Given the description of an element on the screen output the (x, y) to click on. 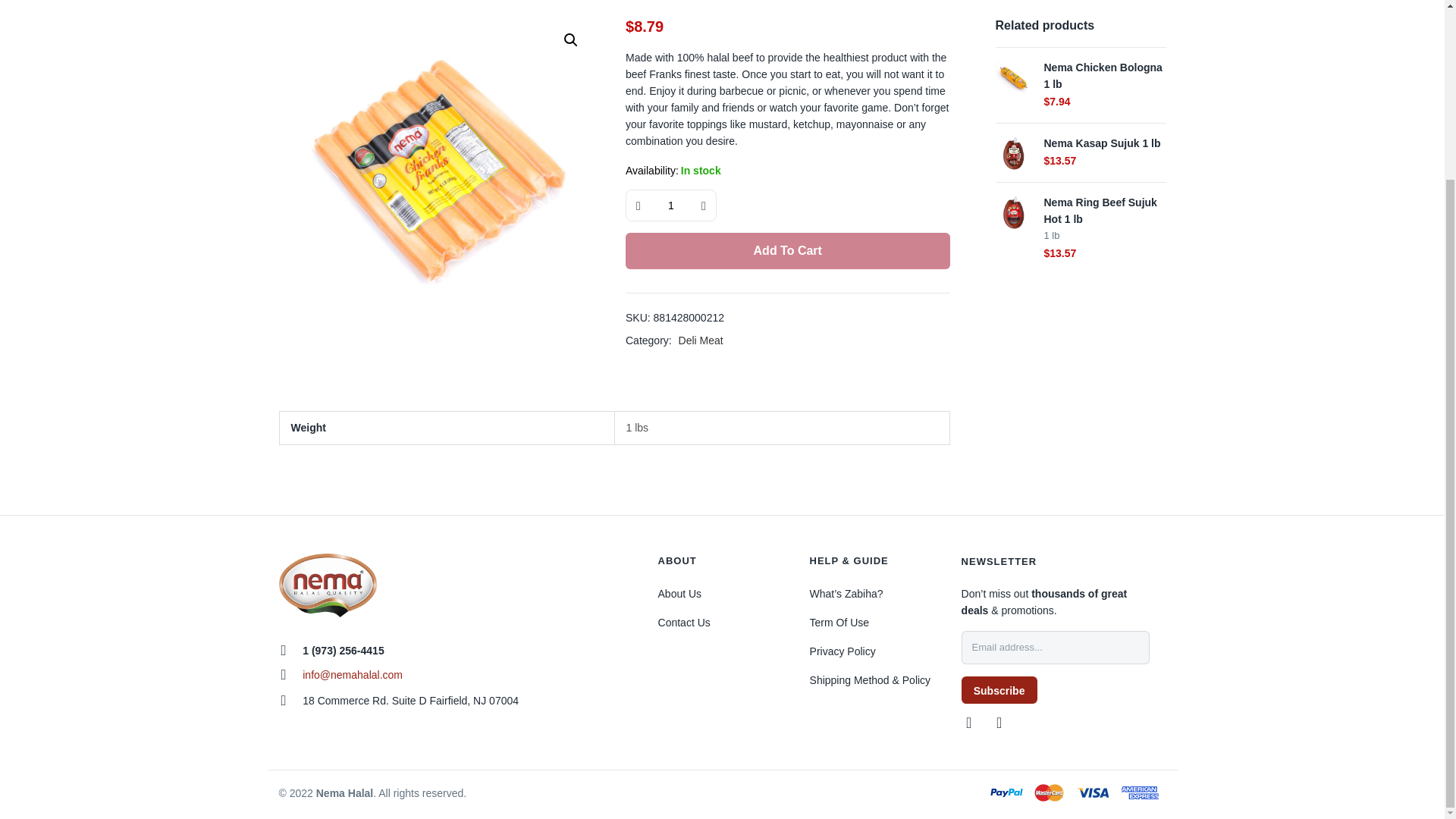
1 (670, 205)
Nema Ring Beef Sujuk Hot 1 lb (1012, 212)
Nema Kasap Sujuk 1 lb (1012, 152)
Qty (670, 205)
Nema Chicken Bologna 1 lb (1012, 77)
Nema-Chicken-Franks2.jpg (437, 173)
